Given the description of an element on the screen output the (x, y) to click on. 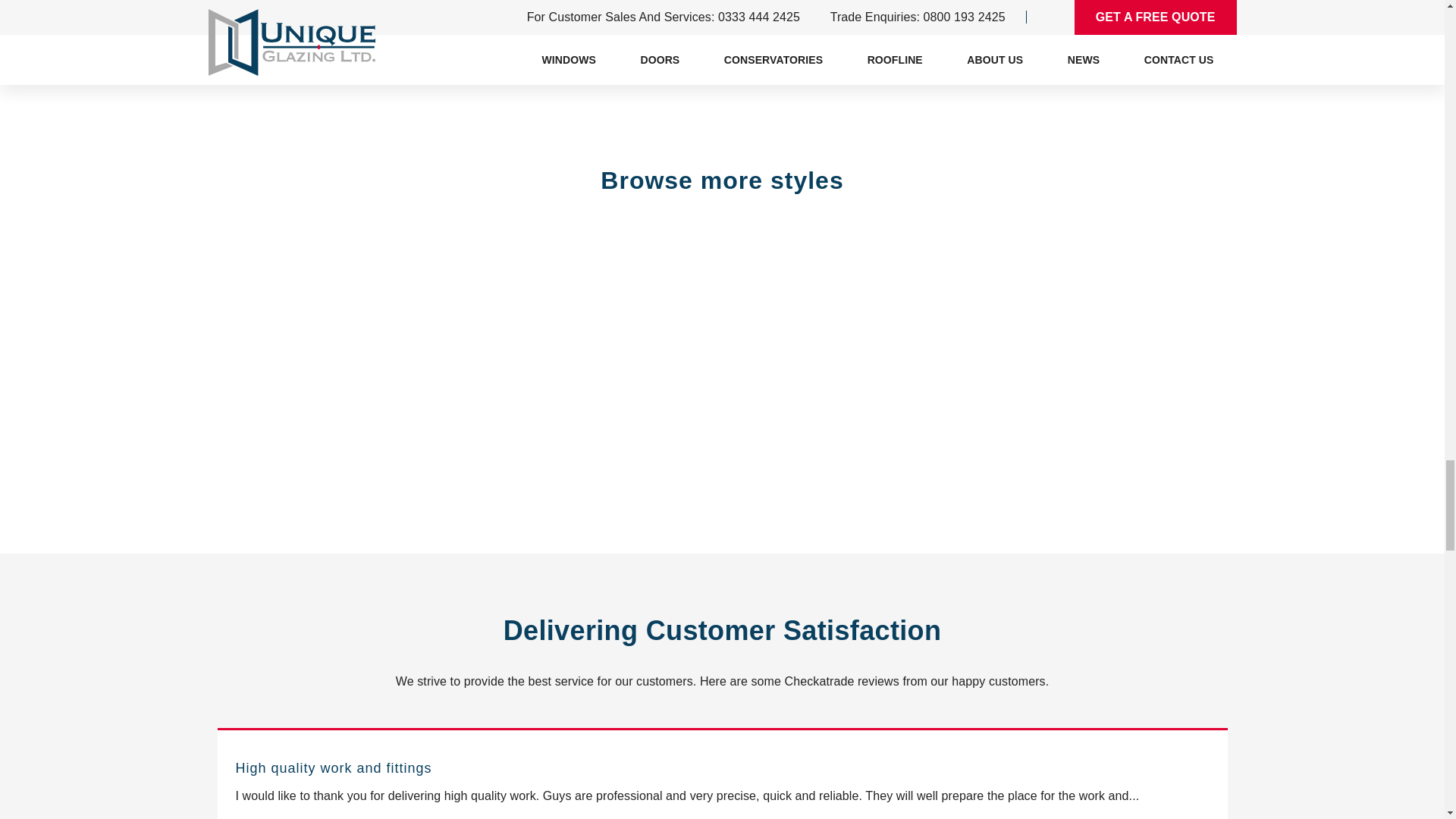
Contact Us (721, 61)
